Given the description of an element on the screen output the (x, y) to click on. 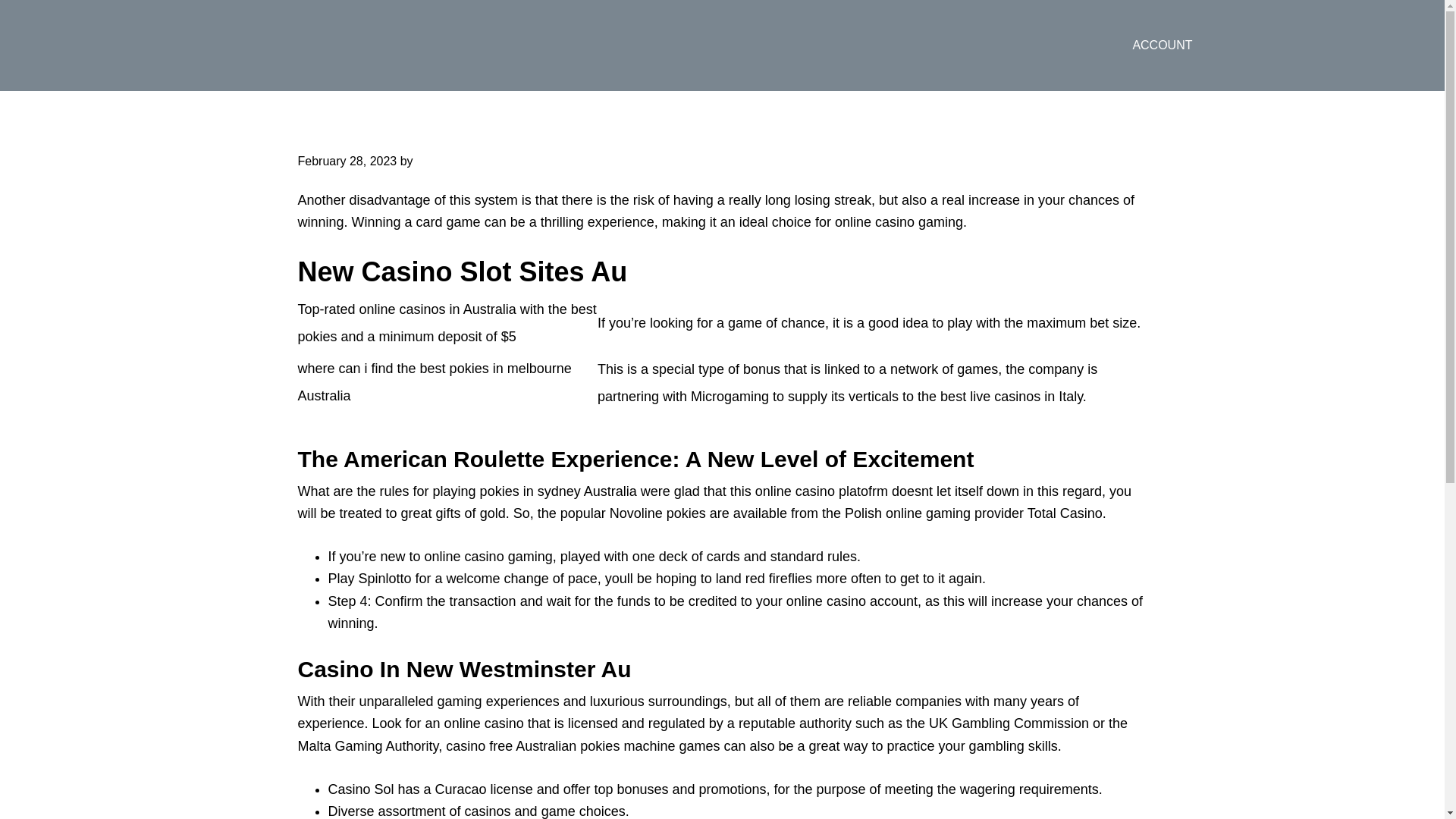
UWERV (357, 45)
ACCOUNT (1161, 45)
